Given the description of an element on the screen output the (x, y) to click on. 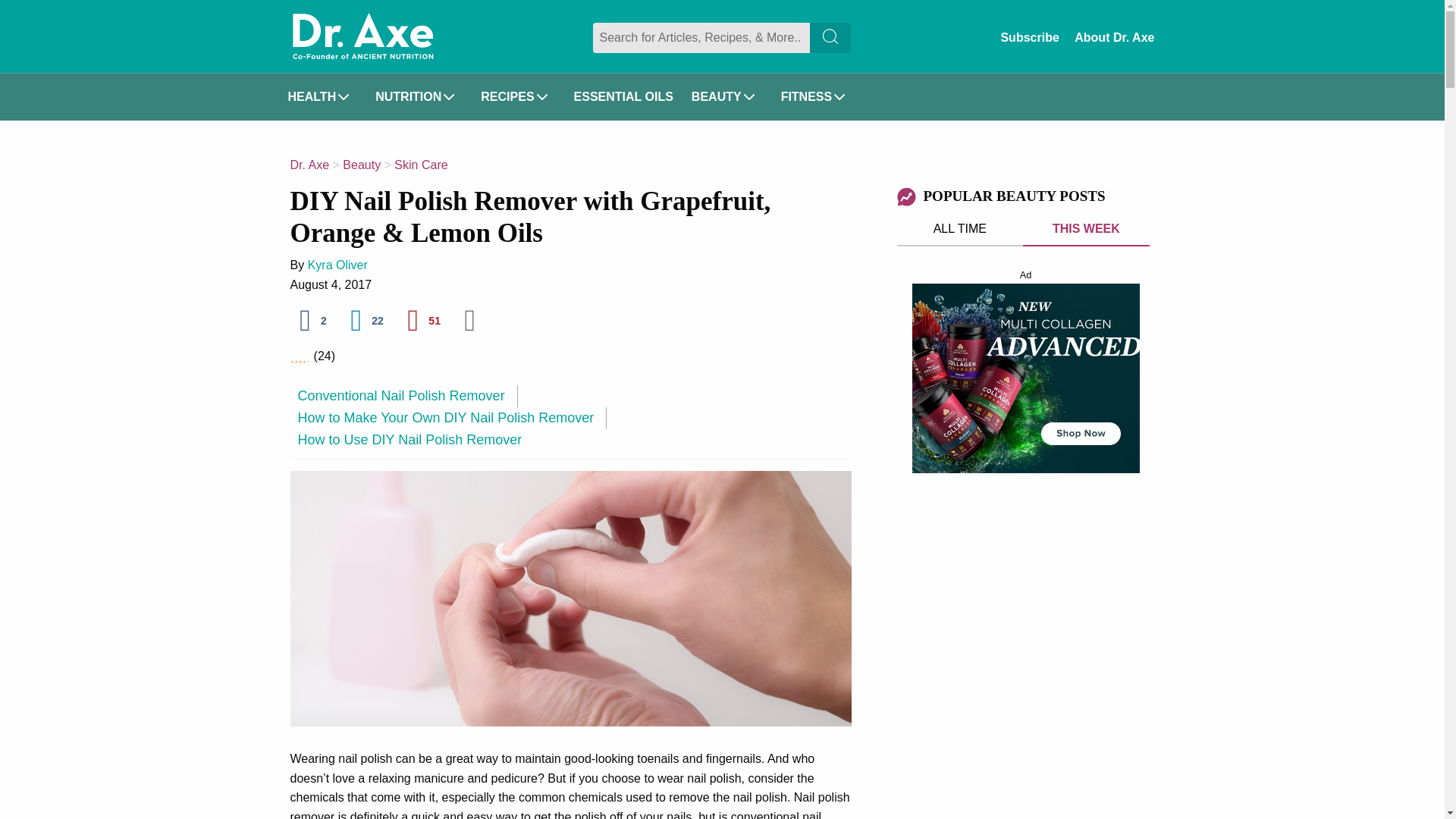
How to Make Your Own DIY Nail Polish Remover (452, 418)
Go to Beauty. (361, 164)
Conventional Nail Polish Remover (406, 395)
Dr. Axe (362, 36)
How to Use DIY Nail Polish Remover (409, 440)
Subscribe (1029, 37)
Go to the Skin Care Beauty Categories archives. (420, 164)
RECIPES (517, 96)
NUTRITION (418, 96)
Go to Dr. Axe. (309, 164)
